Given the description of an element on the screen output the (x, y) to click on. 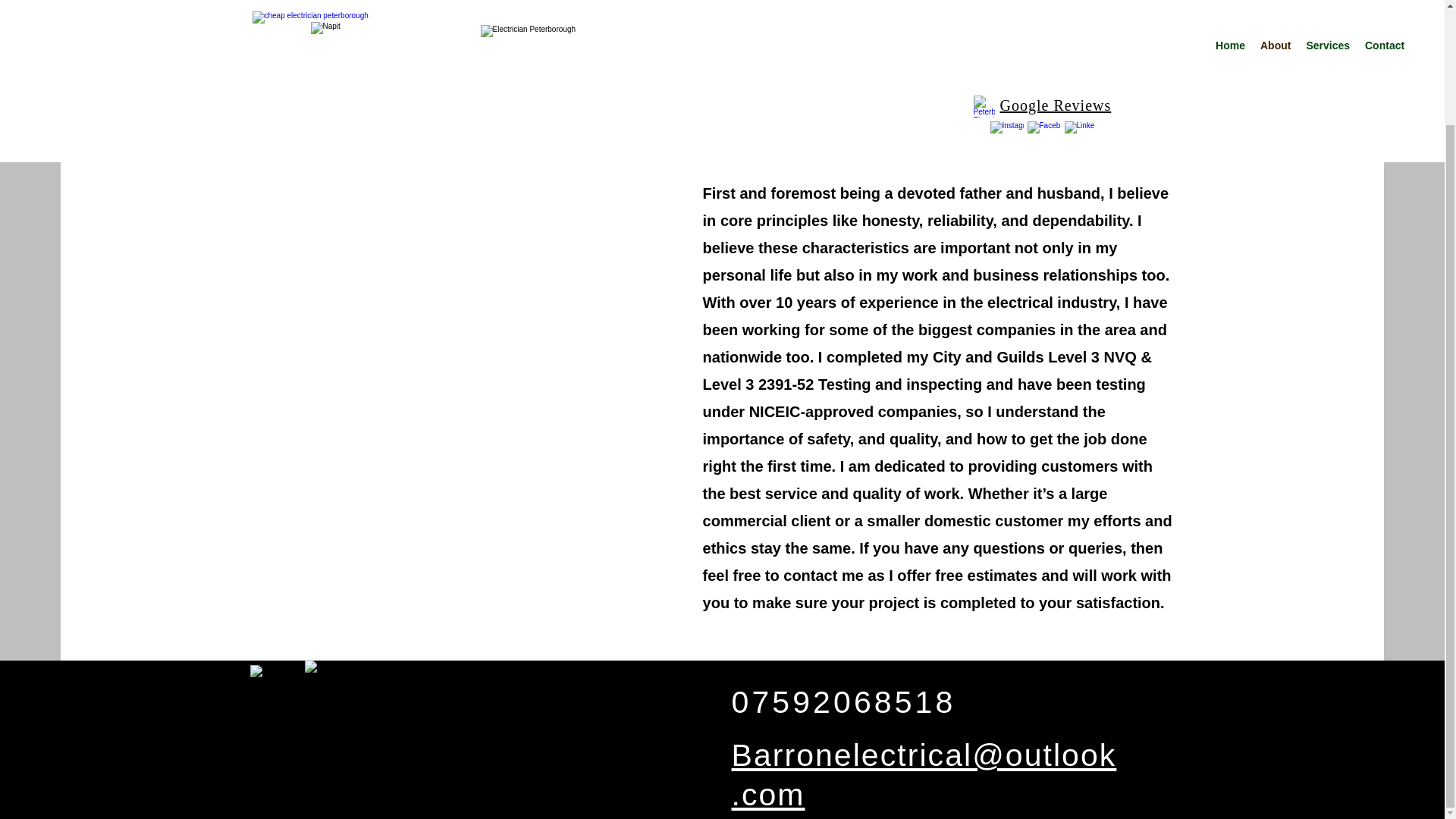
Facebook Like (1018, 714)
07592068518 (842, 701)
Clear White PNG barron.png (532, 719)
